Given the description of an element on the screen output the (x, y) to click on. 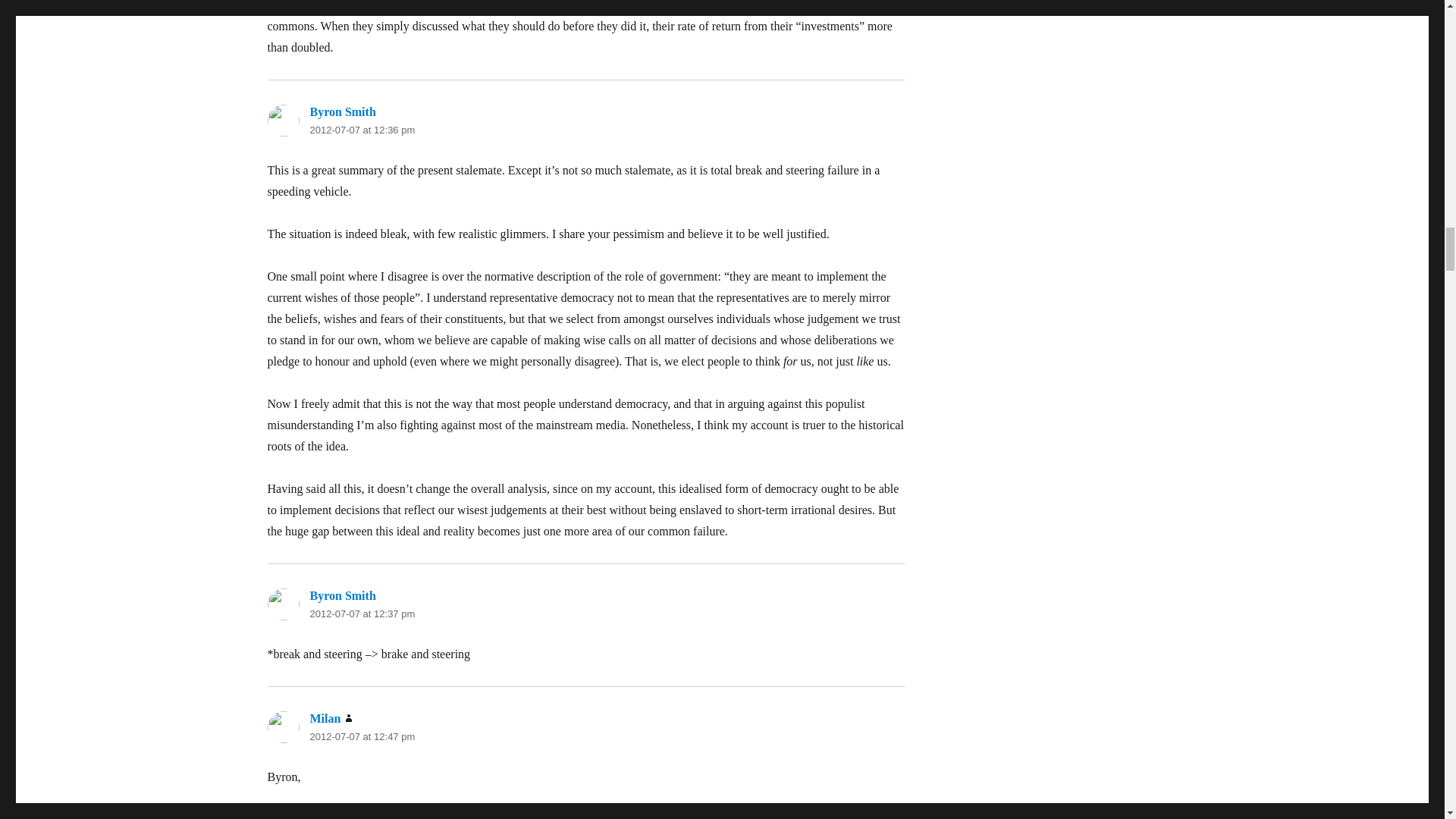
2012-07-07 at 12:47 pm (361, 736)
Byron Smith (341, 594)
Byron Smith (341, 111)
2012-07-07 at 12:37 pm (361, 613)
2012-07-07 at 12:36 pm (361, 129)
Milan (324, 717)
